Given the description of an element on the screen output the (x, y) to click on. 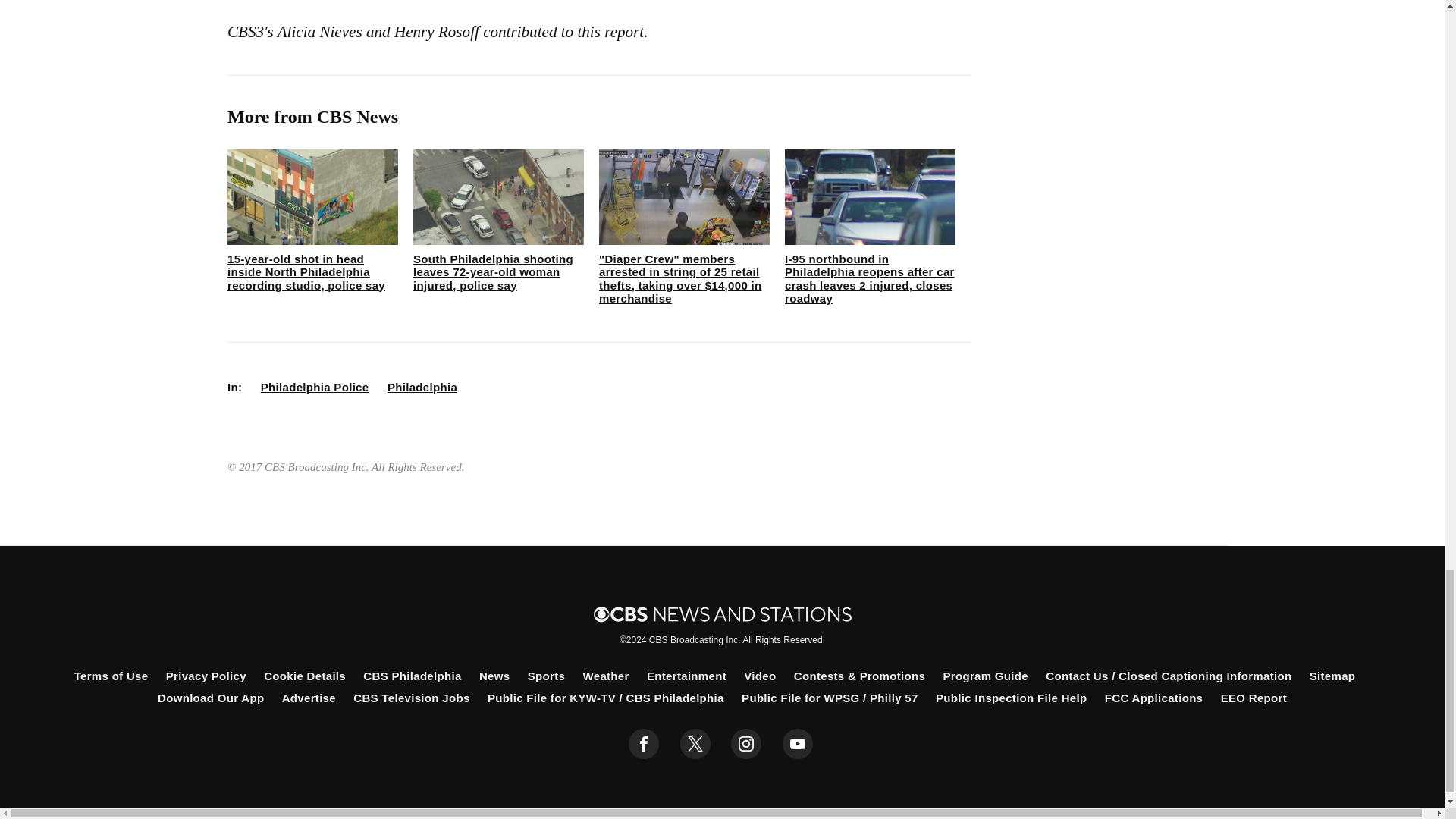
twitter (694, 743)
youtube (797, 743)
facebook (643, 743)
instagram (745, 743)
